Given the description of an element on the screen output the (x, y) to click on. 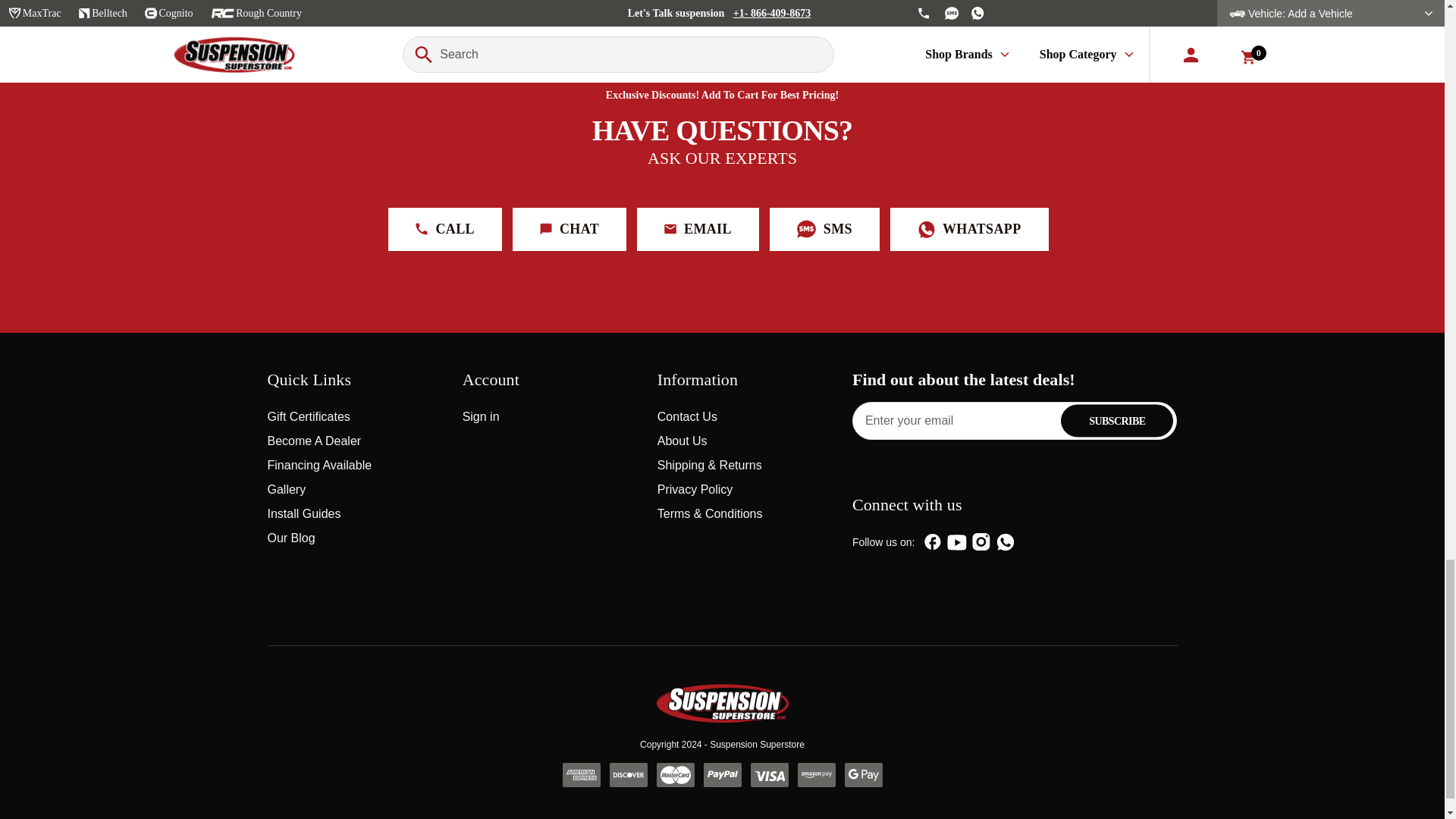
Subscribe (1117, 420)
